Given the description of an element on the screen output the (x, y) to click on. 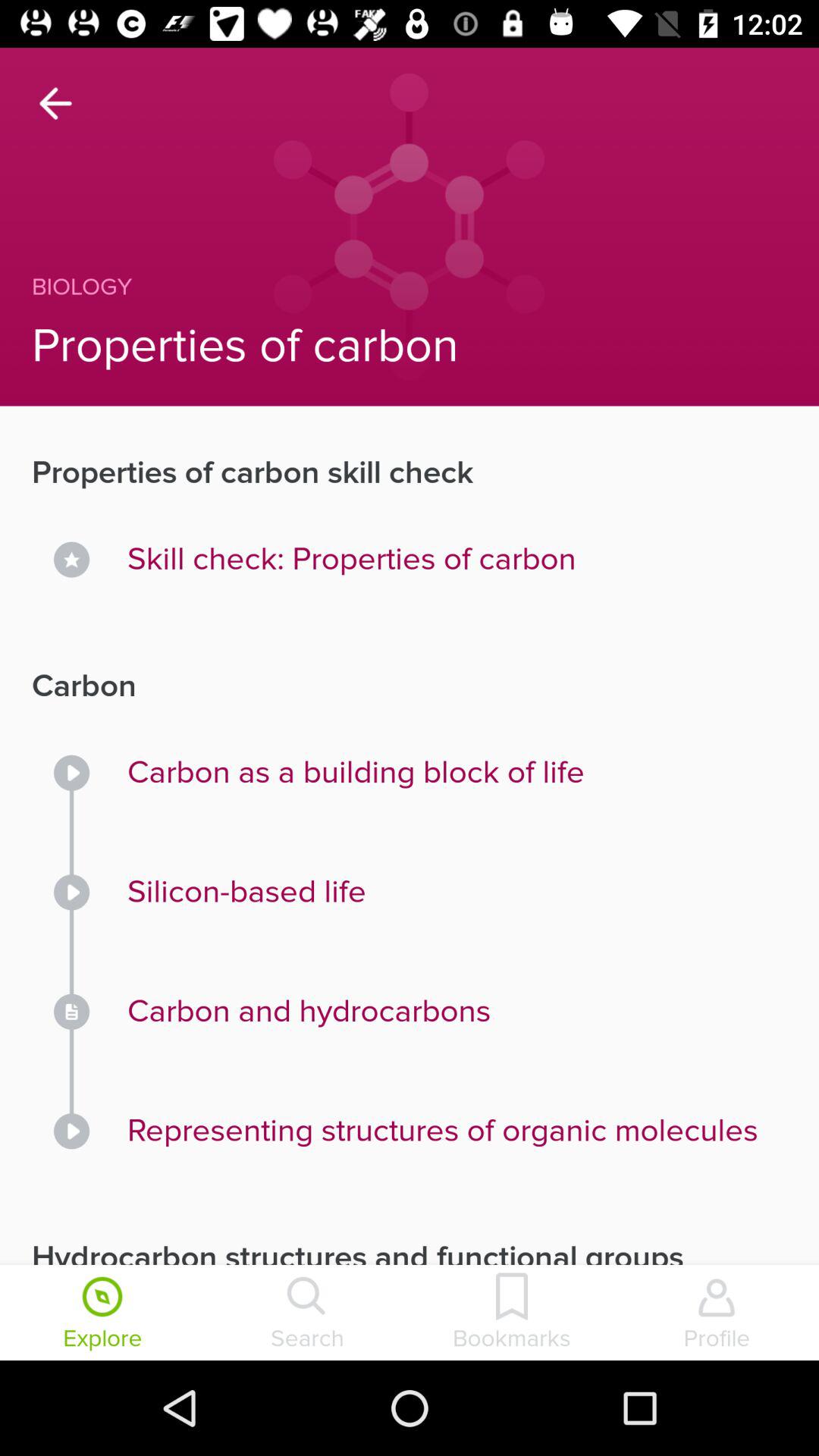
launch the search (306, 1314)
